Given the description of an element on the screen output the (x, y) to click on. 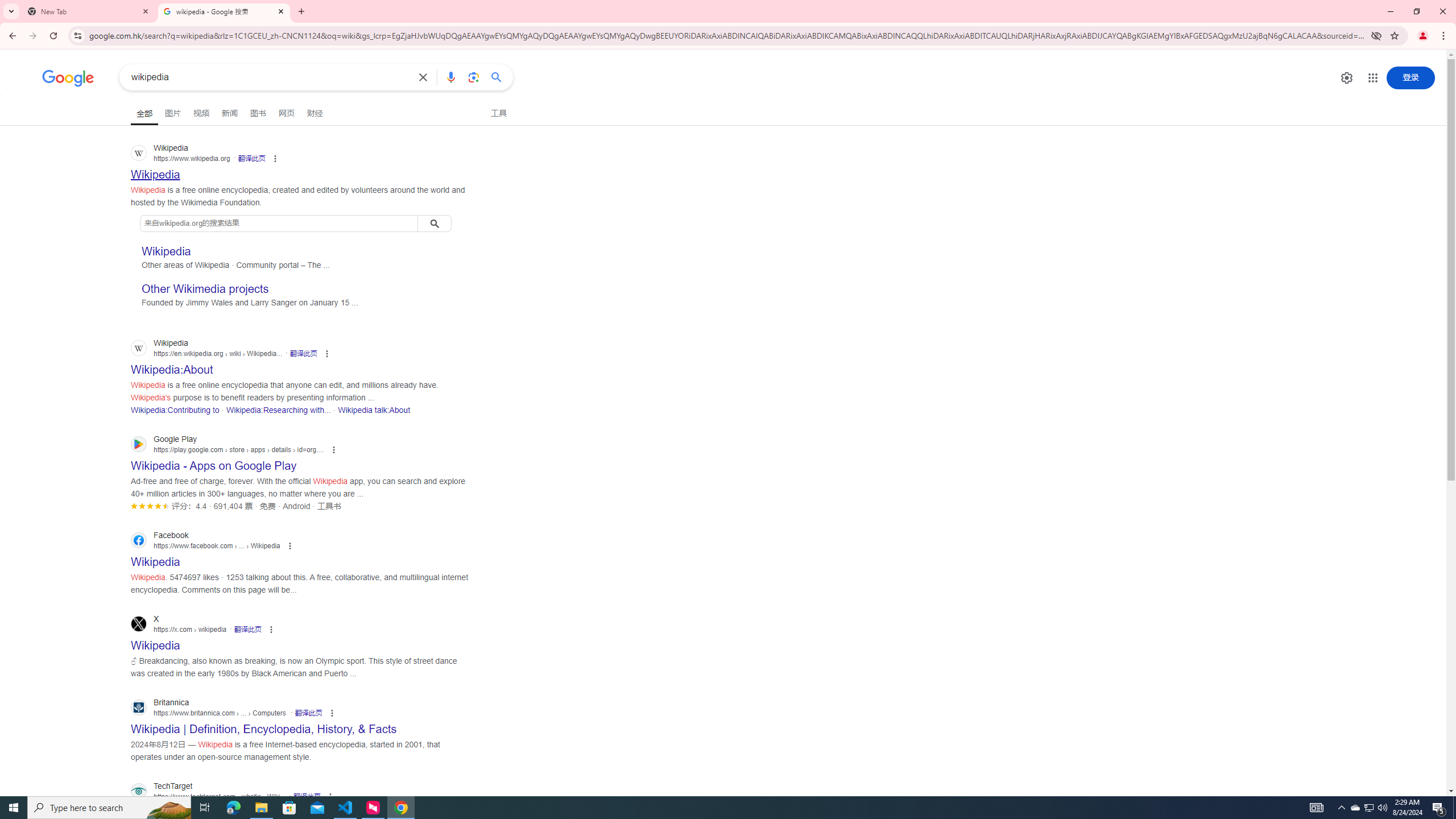
New Tab (88, 11)
Untitled (359, 11)
